Given the description of an element on the screen output the (x, y) to click on. 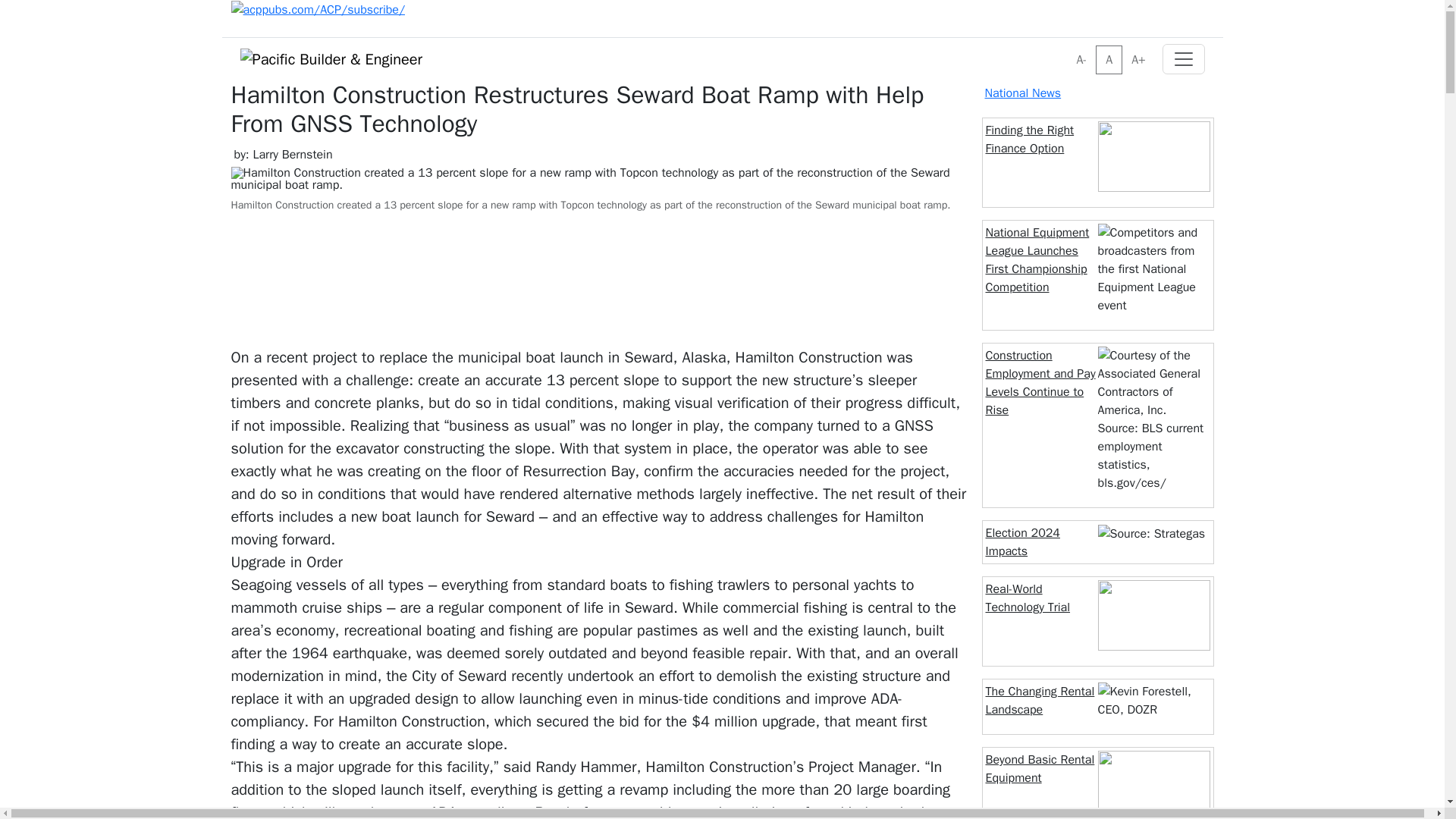
The Changing Rental Landscape (1039, 700)
on (1070, 50)
National News (1022, 92)
on (1070, 50)
Beyond Basic Rental Equipment (1039, 768)
Real-World Technology Trial (1027, 598)
on (1070, 50)
Election 2024 Impacts (1022, 541)
Finding the Right Finance Option (1029, 139)
Construction Employment and Pay Levels Continue to Rise (1040, 382)
